Given the description of an element on the screen output the (x, y) to click on. 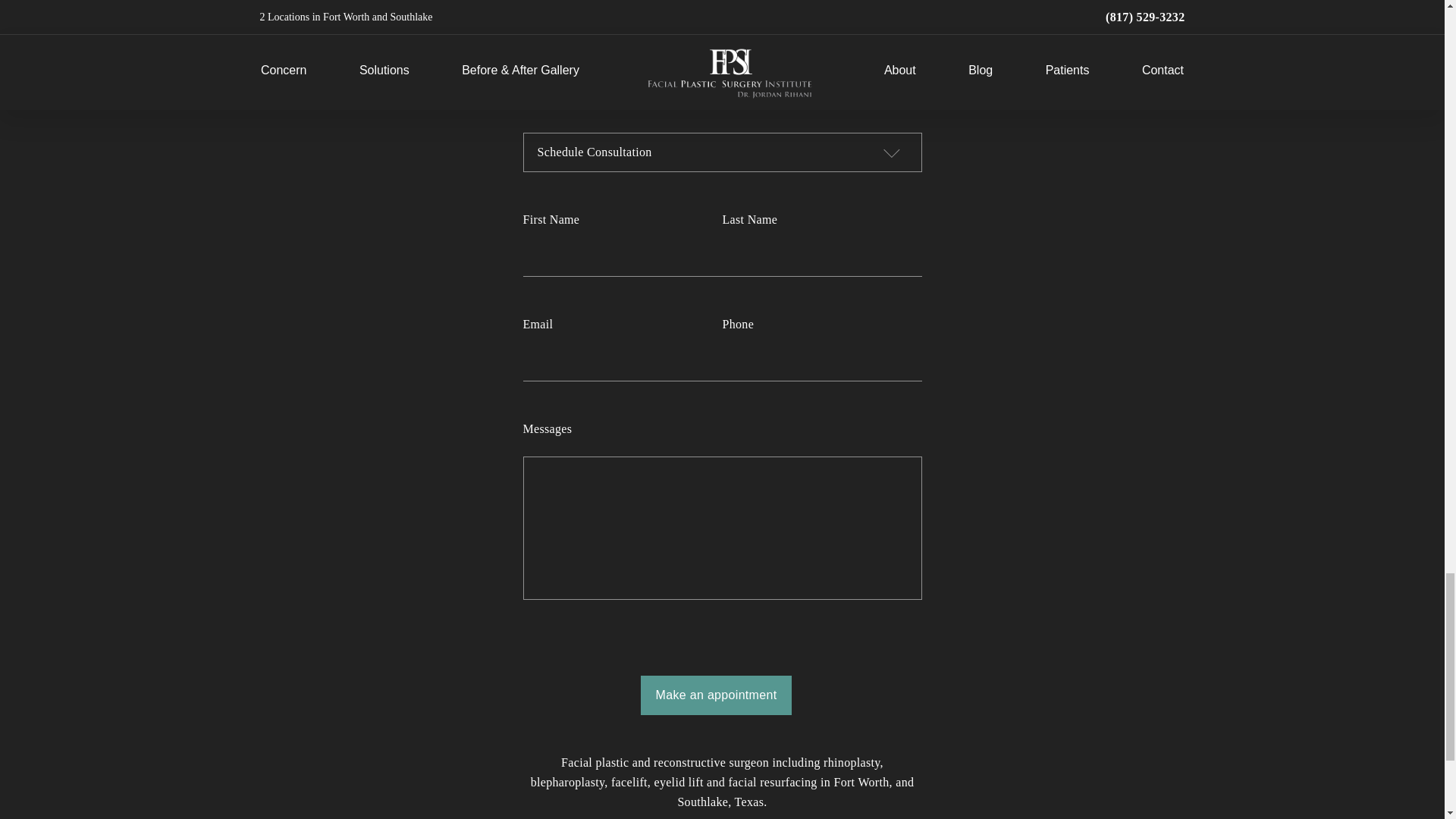
Make an appointment (716, 694)
Make an appointment (716, 694)
